Given the description of an element on the screen output the (x, y) to click on. 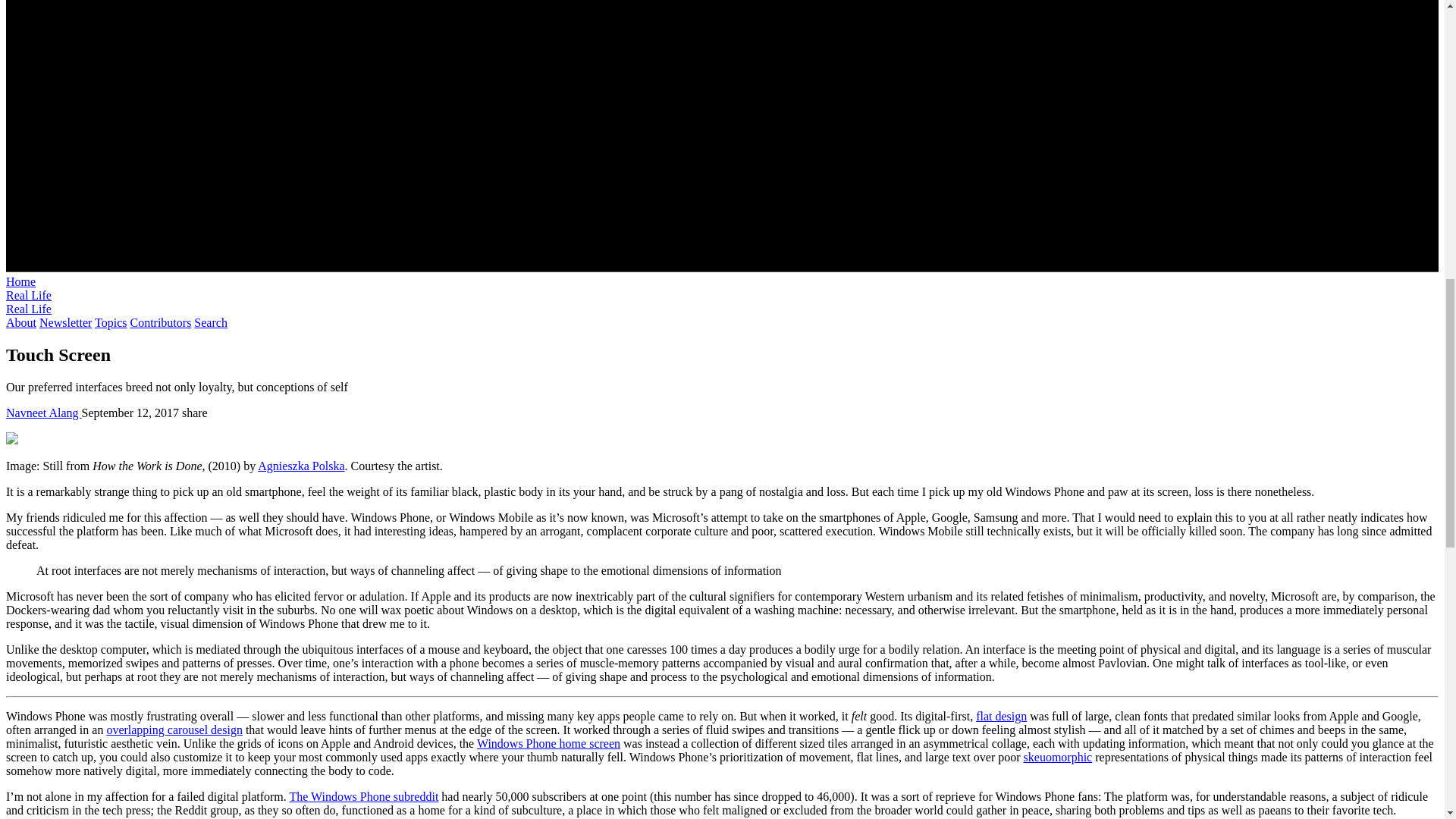
Real Life (27, 295)
About (20, 322)
Windows Phone home screen (548, 743)
Real Life (27, 308)
Topics (110, 322)
The Windows Phone subreddit (364, 796)
skeuomorphic (1058, 757)
Home (19, 281)
Search (210, 322)
flat design (1000, 716)
